Given the description of an element on the screen output the (x, y) to click on. 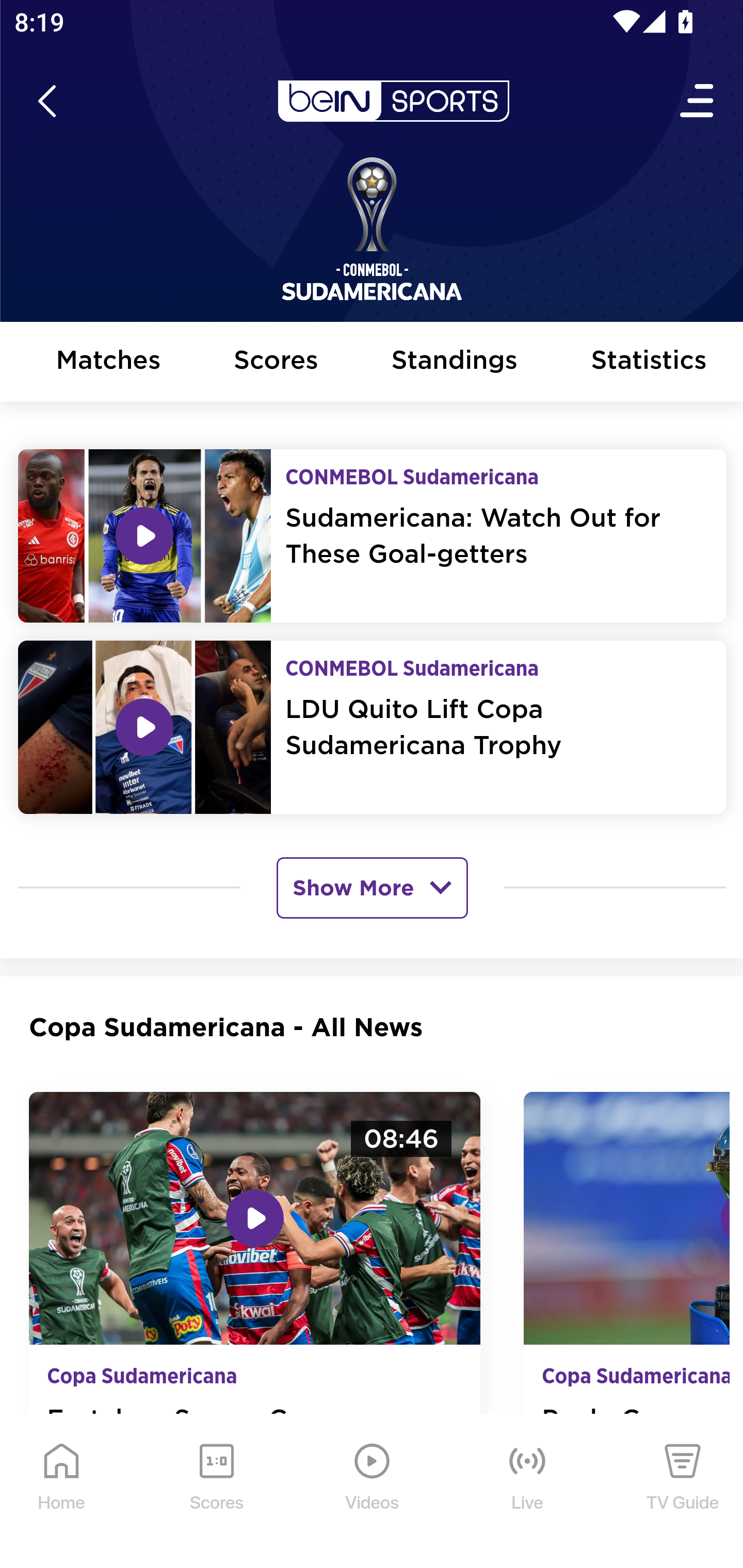
en-us?platform=mobile_android bein logo white (392, 103)
icon back (46, 103)
Open Menu Icon (697, 103)
Matches (107, 363)
Scores (275, 363)
Standings (454, 363)
Statistics (649, 363)
Show More (371, 888)
Home Home Icon Home (61, 1493)
Scores Scores Icon Scores (216, 1493)
Videos Videos Icon Videos (372, 1493)
TV Guide TV Guide Icon TV Guide (682, 1493)
